Given the description of an element on the screen output the (x, y) to click on. 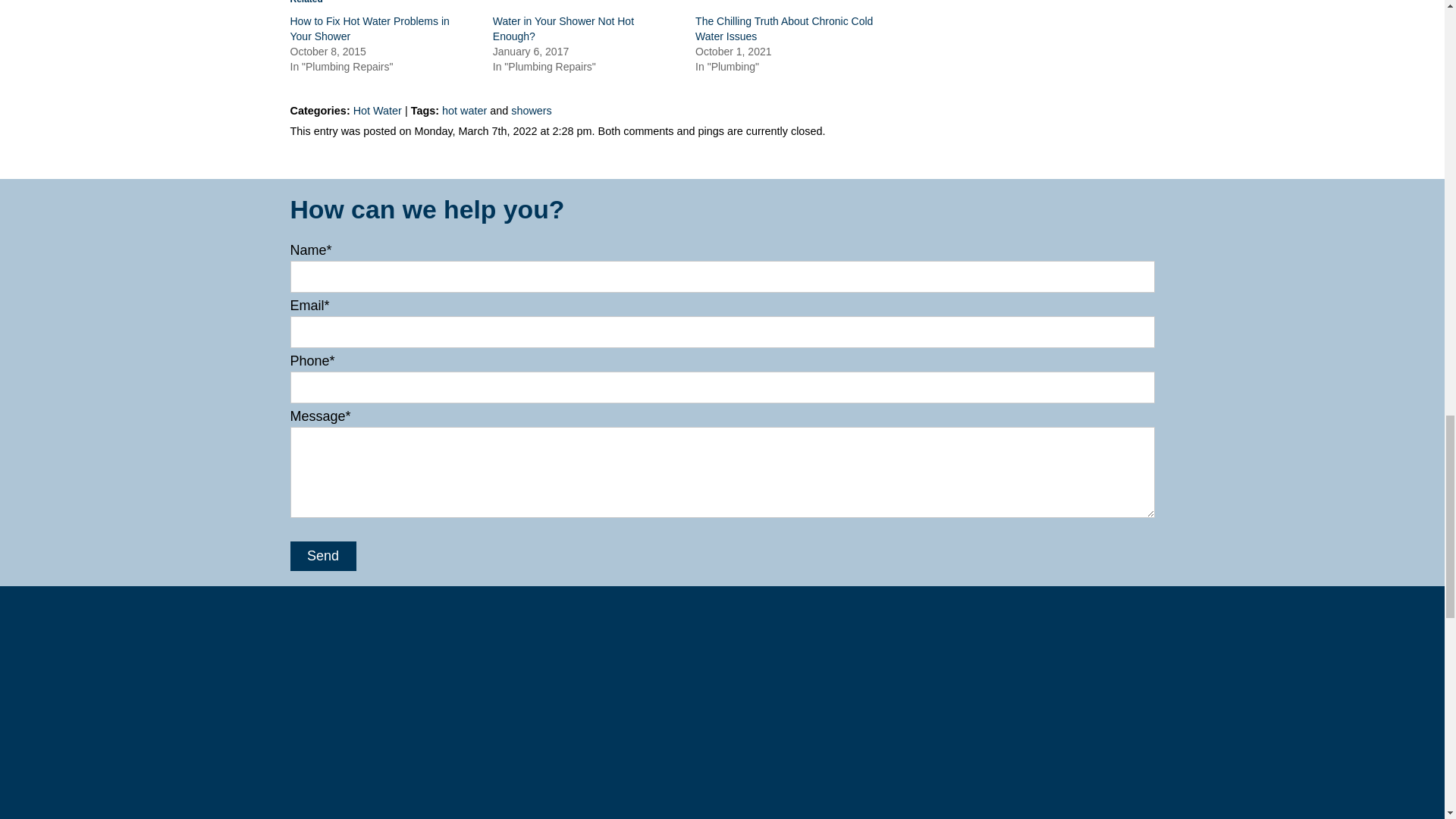
Send (322, 556)
